Given the description of an element on the screen output the (x, y) to click on. 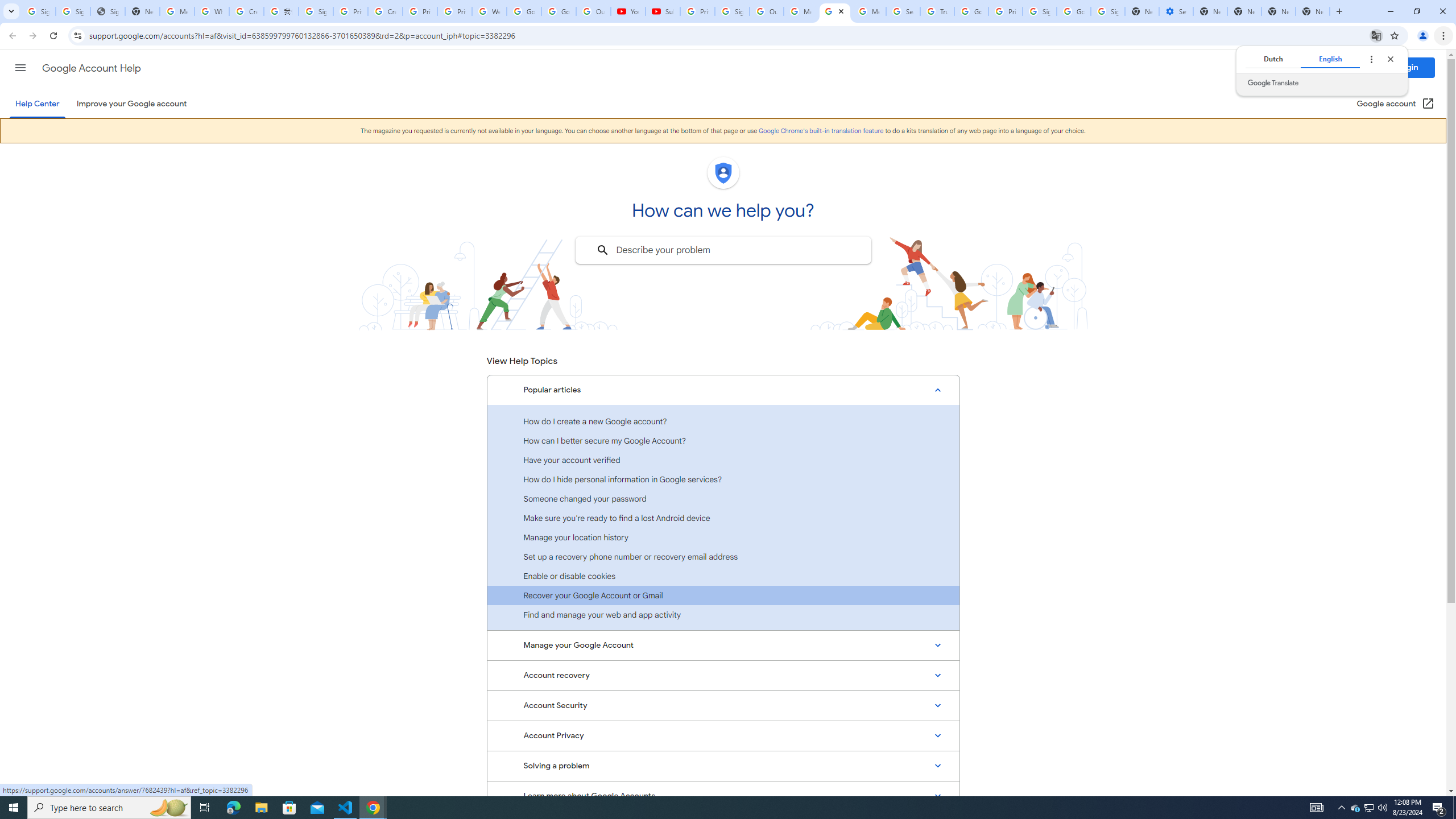
New Tab (1312, 11)
Google Cybersecurity Innovations - Google Safety Center (1073, 11)
Someone changed your password (722, 498)
Recover your Google Account or Gmail (722, 595)
Google Ads - Sign in (970, 11)
Sign in - Google Accounts (73, 11)
Search our Doodle Library Collection - Google Doodles (903, 11)
Find and manage your web and app activity (722, 614)
